Given the description of an element on the screen output the (x, y) to click on. 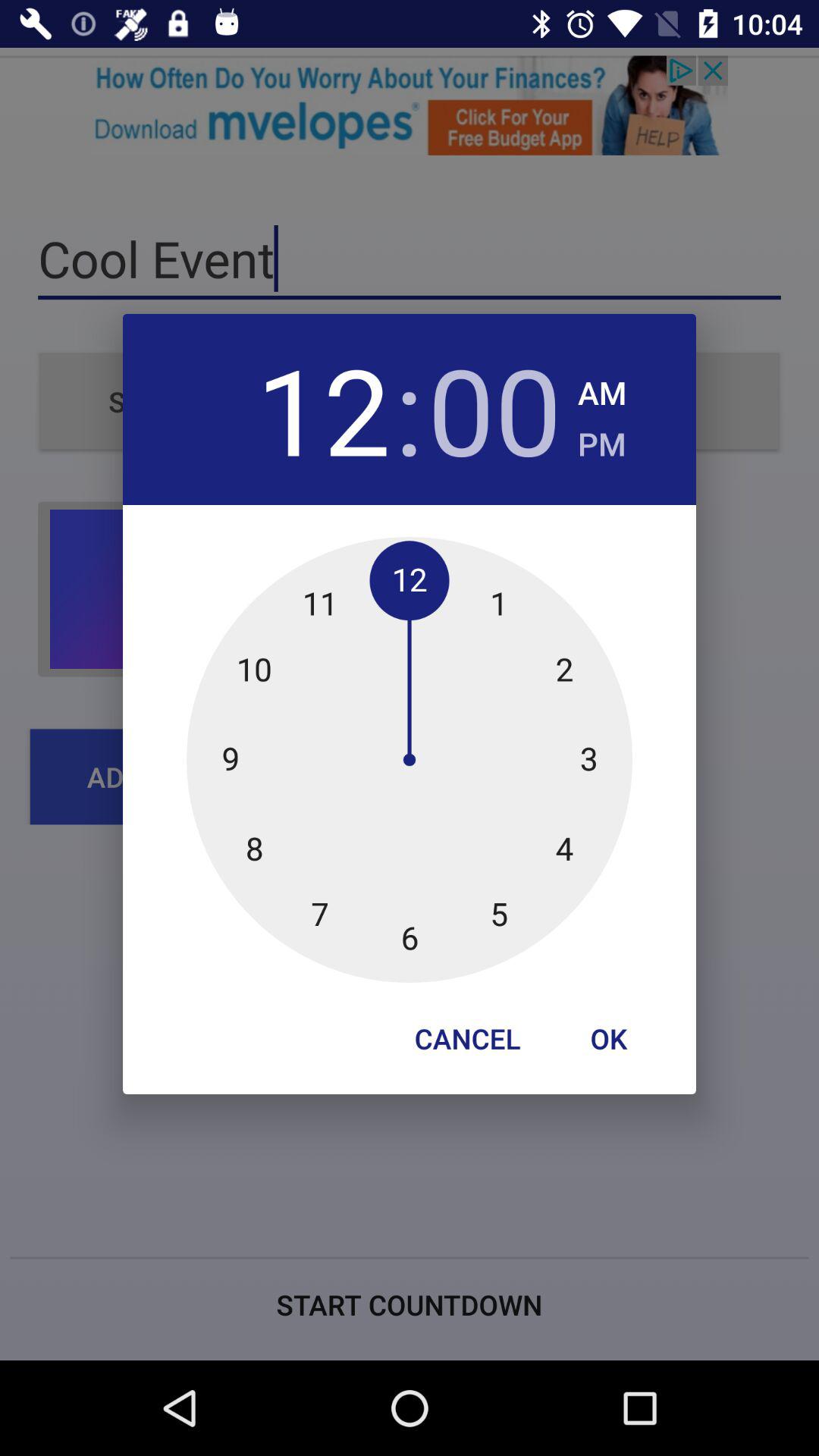
select app to the right of the 00 item (601, 439)
